Given the description of an element on the screen output the (x, y) to click on. 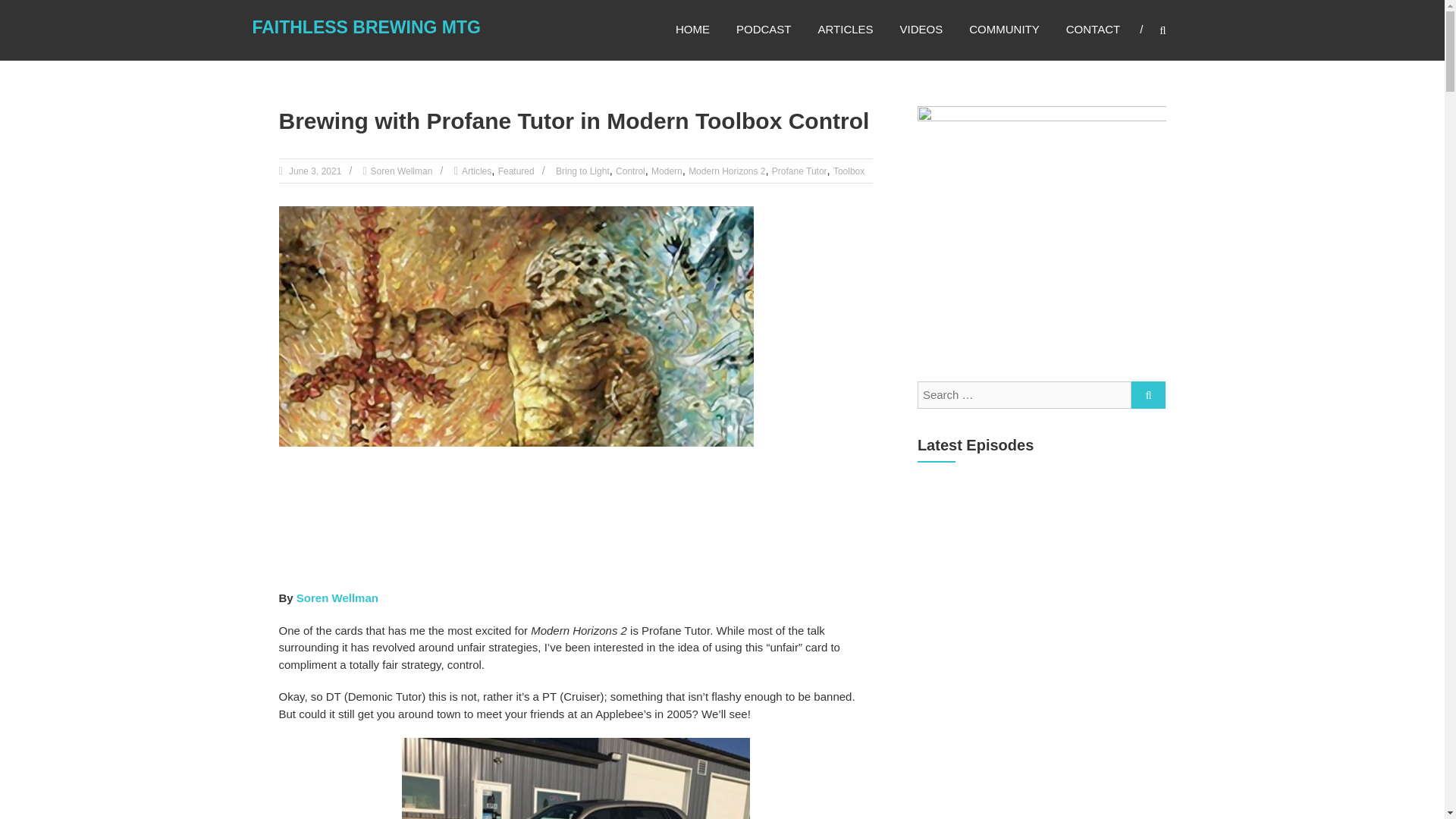
June 3, 2021 (314, 171)
Profane Tutor (799, 171)
Control (630, 171)
Toolbox (848, 171)
Bring to Light (583, 171)
Search (1148, 394)
Faithless Brewing MTG (365, 26)
Soren Wellman (401, 171)
ARTICLES (844, 29)
